Given the description of an element on the screen output the (x, y) to click on. 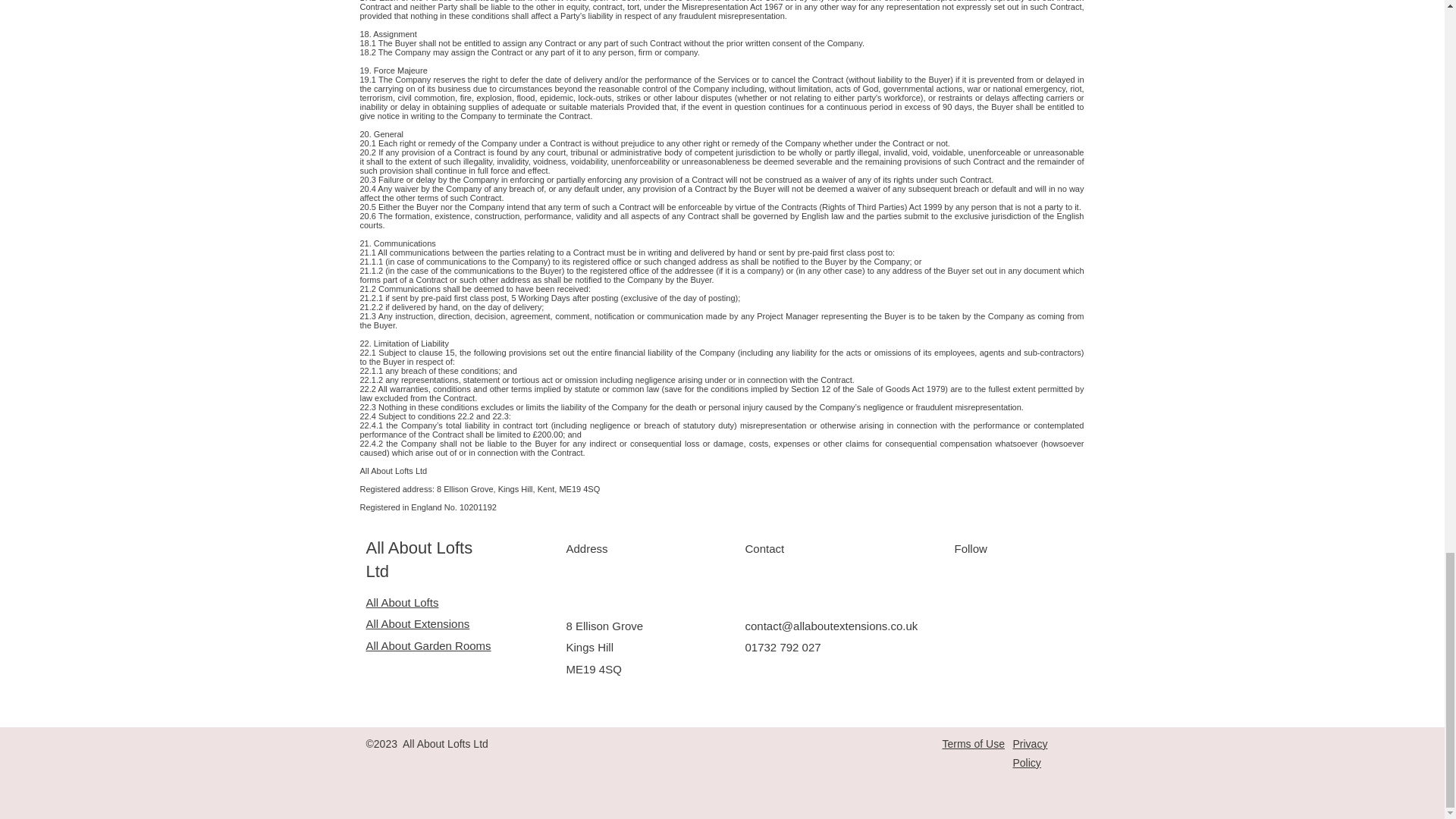
All About Lofts Ltd (418, 559)
All About Extensions (416, 623)
Privacy Policy (1030, 753)
All About Garden Rooms (427, 645)
Terms of Use (973, 743)
All About Lofts (401, 602)
